Given the description of an element on the screen output the (x, y) to click on. 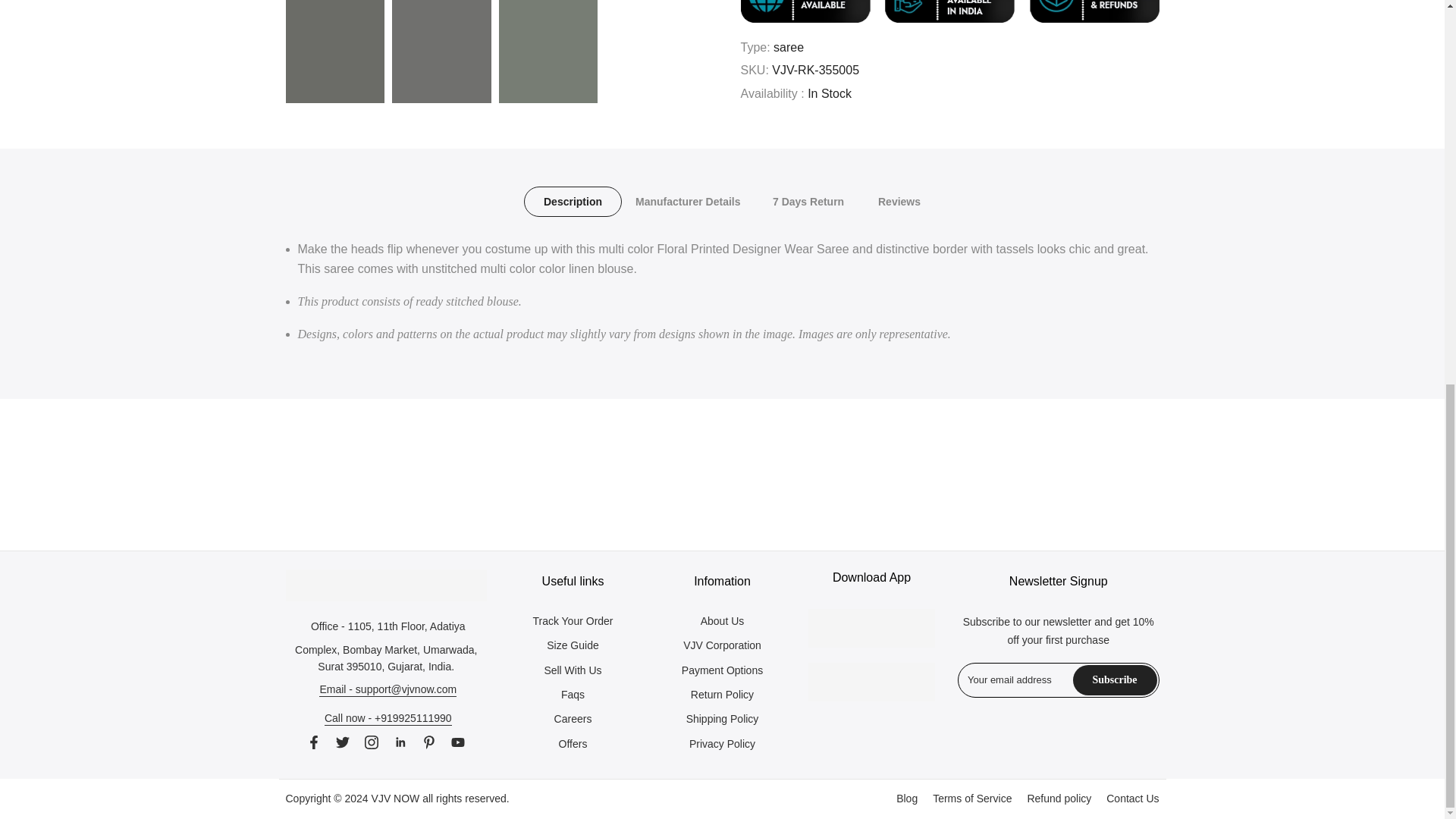
Reviews (899, 201)
Manufacturer Details (687, 201)
7 Days Return (807, 201)
Description (571, 201)
